Given the description of an element on the screen output the (x, y) to click on. 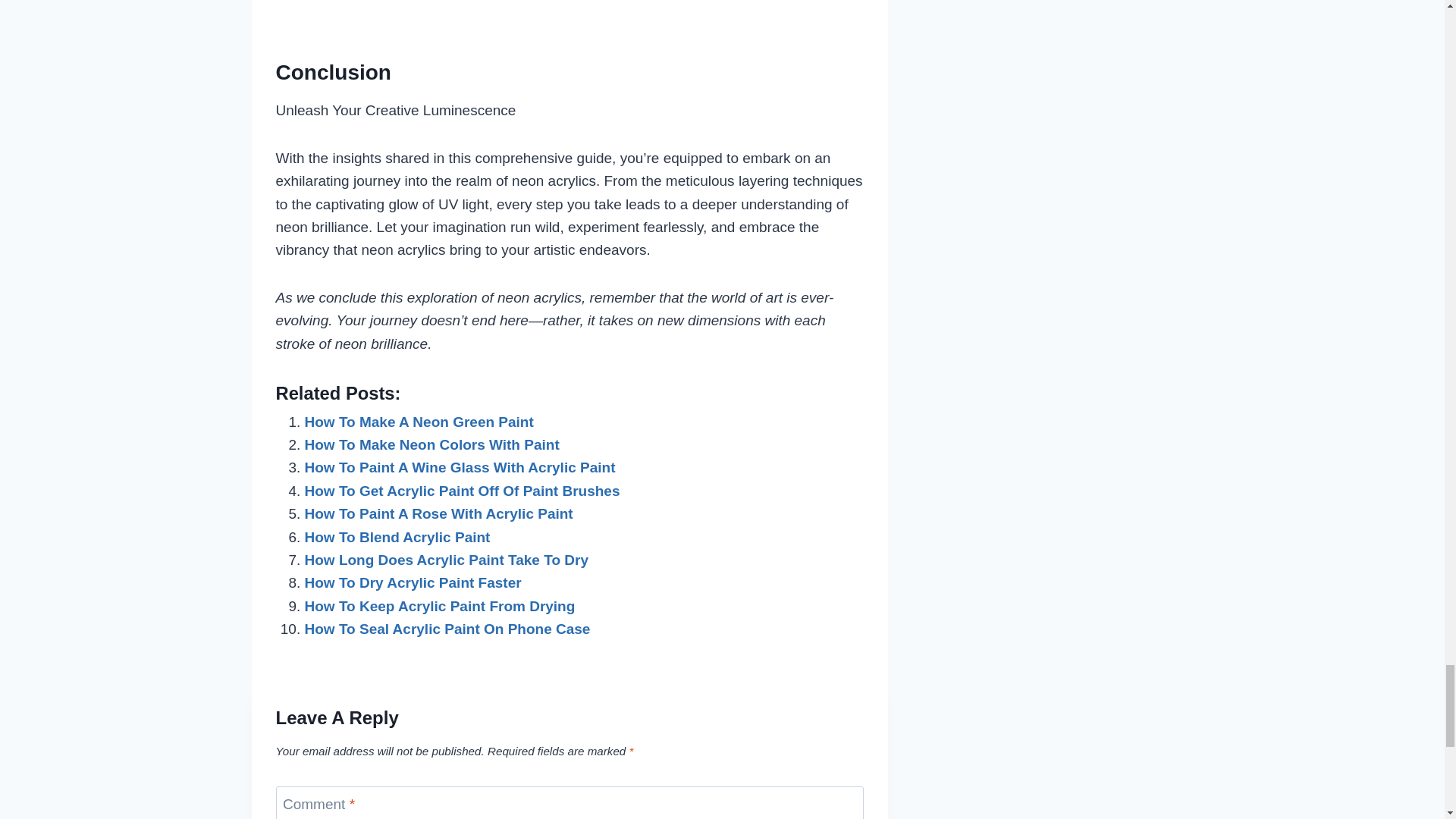
How To Blend Acrylic Paint (397, 537)
How To Dry Acrylic Paint Faster (412, 582)
How To Dry Acrylic Paint Faster (412, 582)
How To Get Acrylic Paint Off Of Paint Brushes (462, 490)
How To Seal Acrylic Paint On Phone Case (447, 628)
How To Blend Acrylic Paint (397, 537)
How To Get Acrylic Paint Off Of Paint Brushes (462, 490)
How Long Does Acrylic Paint Take To Dry (446, 560)
How To Keep Acrylic Paint From Drying (439, 606)
How To Paint A Wine Glass With Acrylic Paint (459, 467)
